Given the description of an element on the screen output the (x, y) to click on. 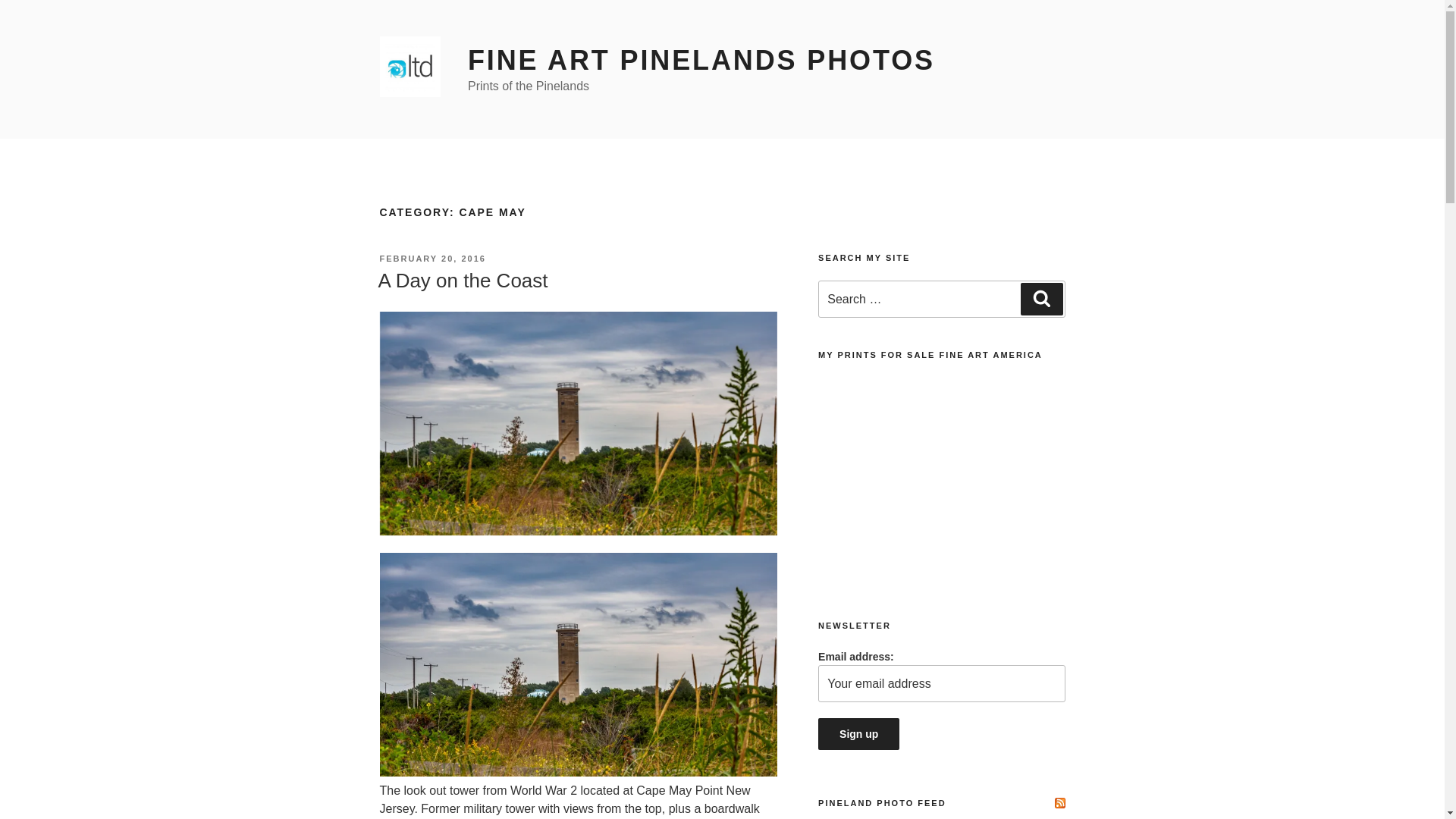
FEBRUARY 20, 2016 (431, 257)
PINELAND PHOTO FEED (882, 802)
A Day on the Coast (462, 280)
FINE ART PINELANDS PHOTOS (700, 60)
Sign up (858, 734)
Search (1041, 298)
Sign up (858, 734)
